Given the description of an element on the screen output the (x, y) to click on. 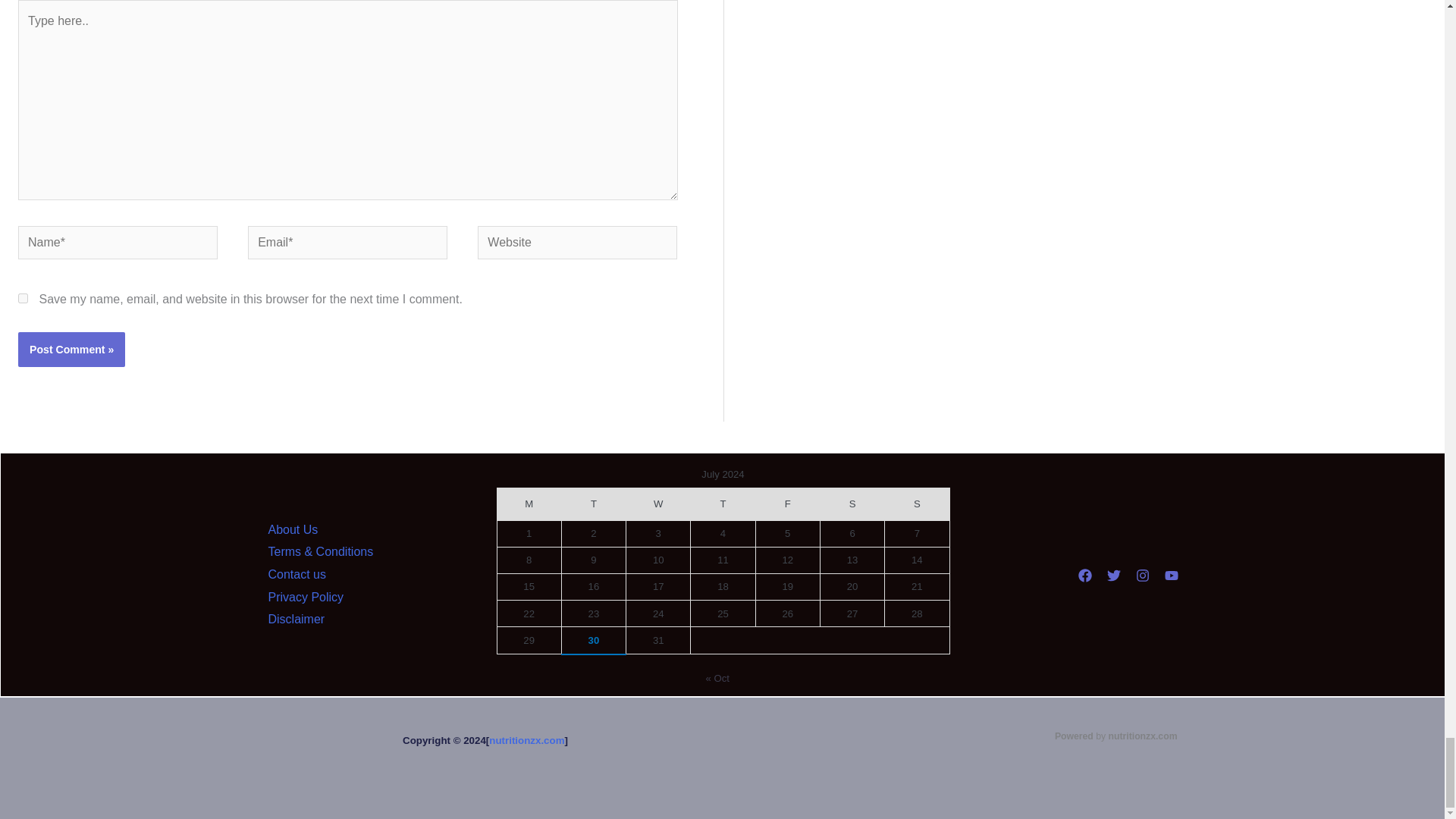
Saturday (851, 504)
Tuesday (593, 504)
yes (22, 298)
Friday (787, 504)
Wednesday (658, 504)
Monday (528, 504)
Thursday (722, 504)
